Given the description of an element on the screen output the (x, y) to click on. 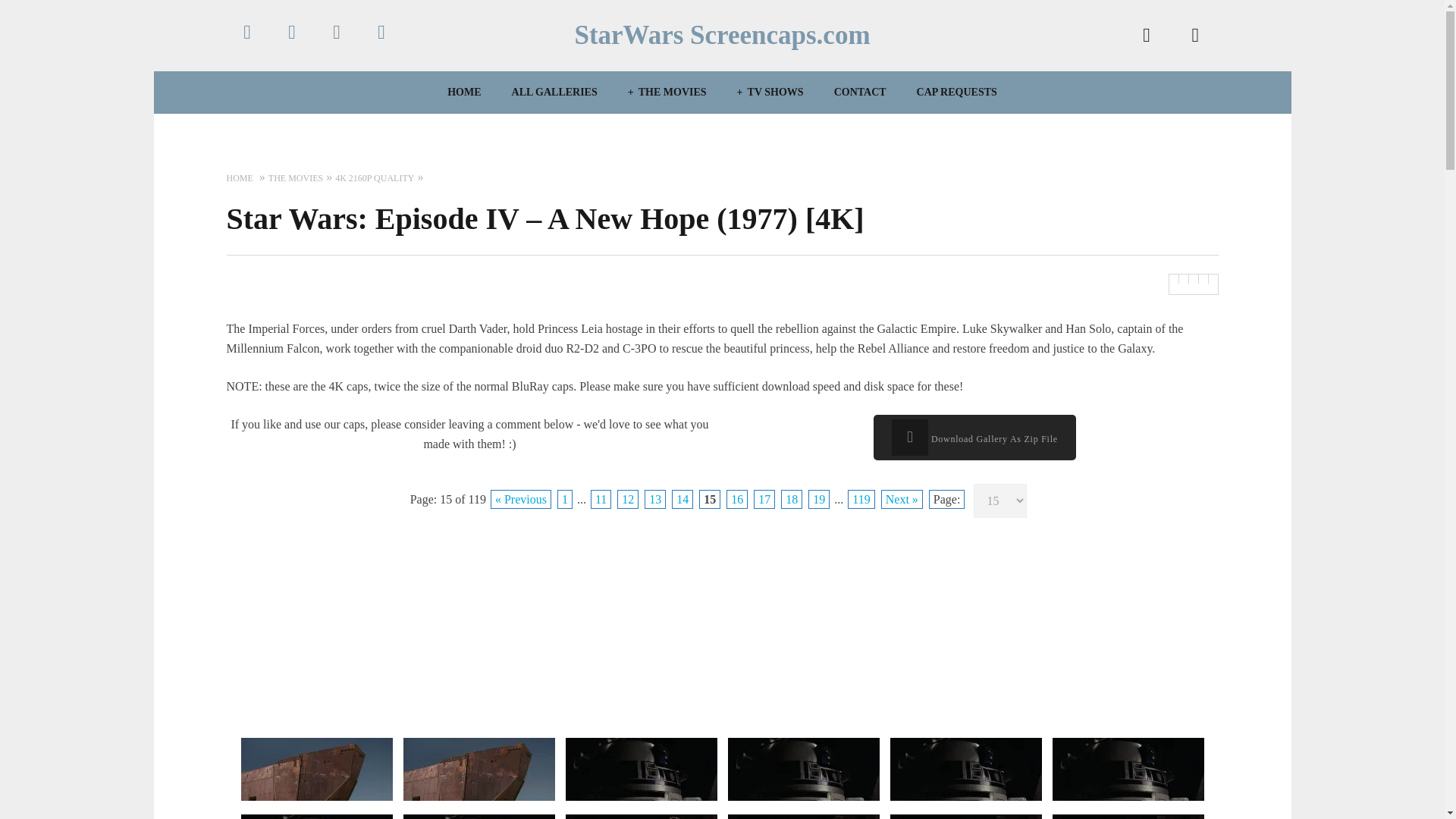
View all posts filed under 4K 2160p Quality (373, 177)
View all posts filed under The Movies (295, 177)
Go to page 12 of 119 (628, 498)
4K 2160P QUALITY (373, 177)
Go to page 119 of 119 (861, 498)
11 (601, 498)
Go to page 18 of 119 (791, 498)
CAP REQUESTS (957, 91)
12 (628, 498)
StarWars Screencaps.com (721, 35)
THE MOVIES (295, 177)
Go to page 17 of 119 (764, 498)
16 (737, 498)
Go to page 15 of 119 (709, 498)
THE MOVIES (667, 91)
